Given the description of an element on the screen output the (x, y) to click on. 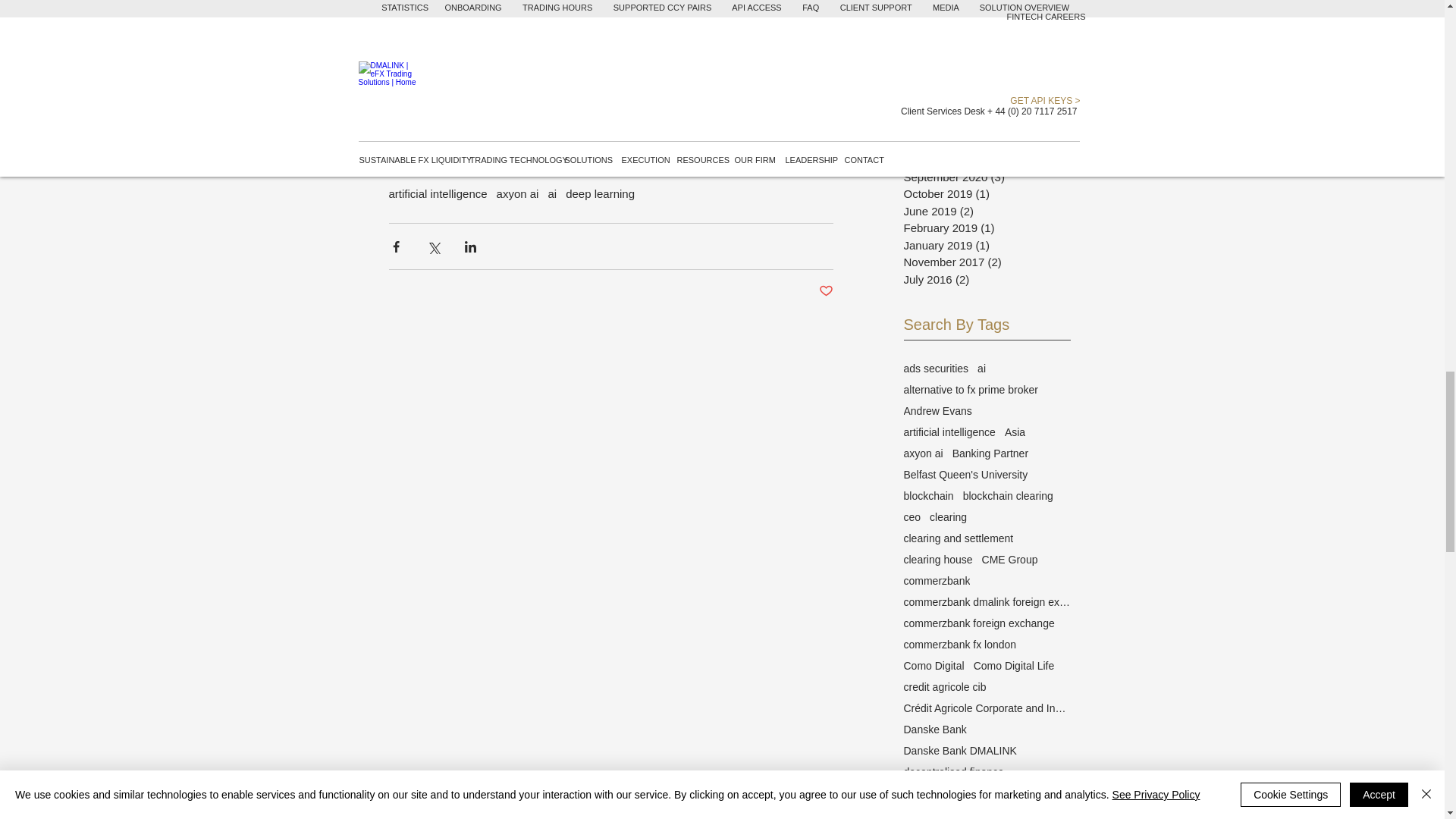
axyon ai (517, 193)
artificial intelligence (437, 193)
deep learning (600, 193)
Post not marked as liked (825, 291)
